Given the description of an element on the screen output the (x, y) to click on. 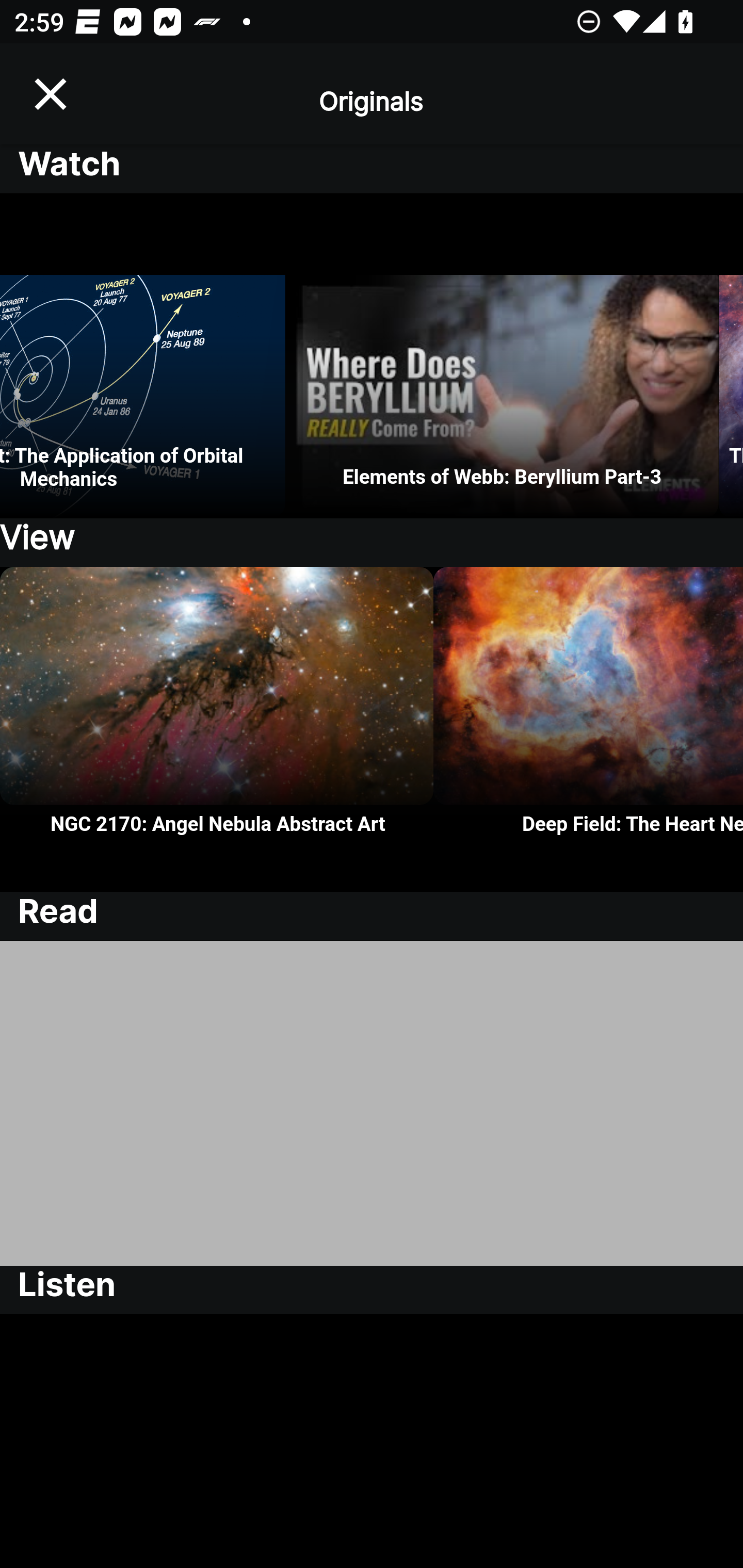
Space Flight: The Application of Orbital Mechanics (142, 355)
Elements of Webb: Beryllium Part-3 (501, 355)
NGC 2170: Angel Nebula Abstract Art (216, 729)
Deep Field: The Heart Nebula (588, 729)
